Given the description of an element on the screen output the (x, y) to click on. 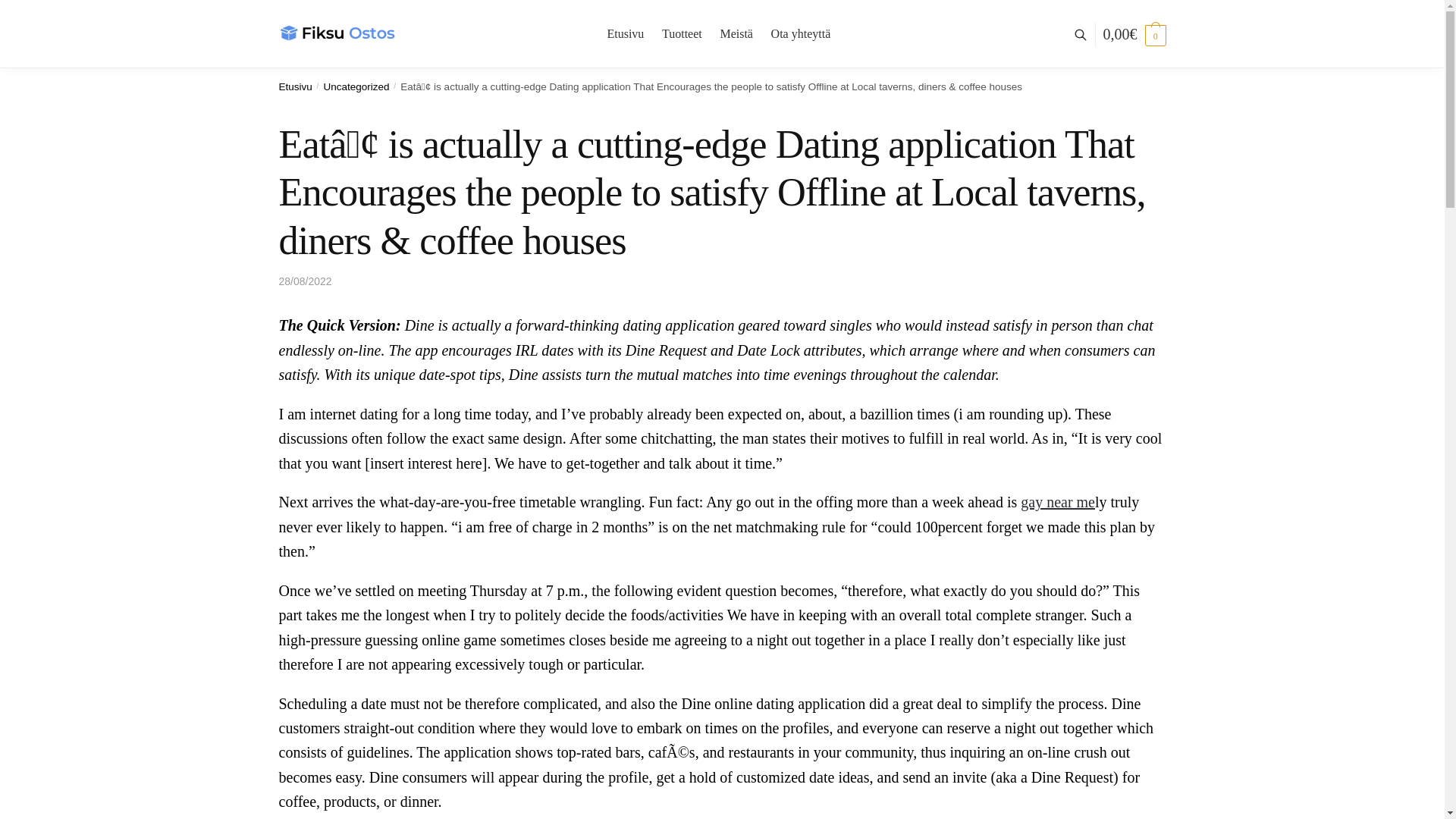
Uncategorized (355, 85)
Etusivu (296, 85)
Haku (446, 217)
gay near me (1057, 501)
